Given the description of an element on the screen output the (x, y) to click on. 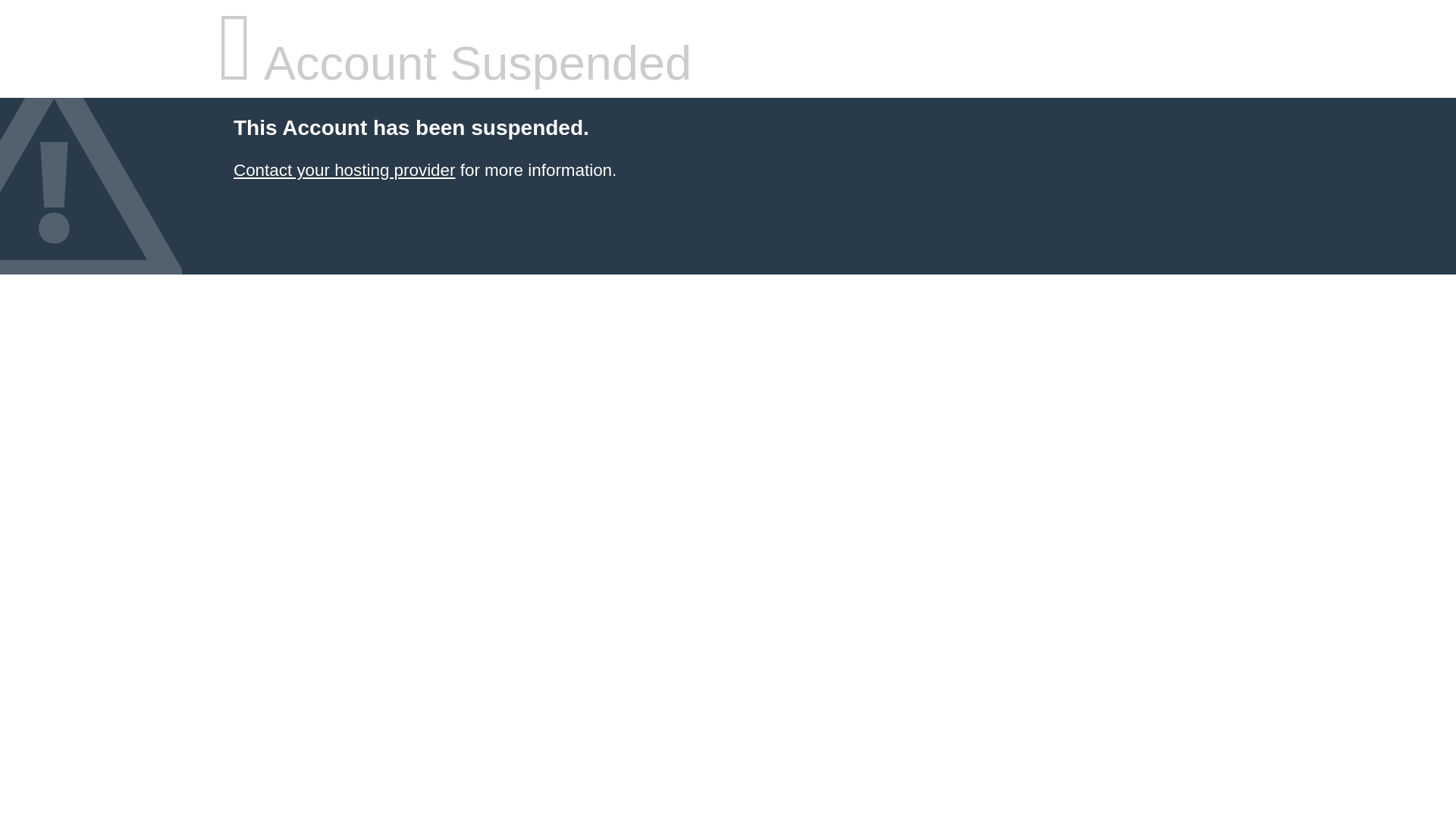
Contact your hosting provider (343, 169)
